Given the description of an element on the screen output the (x, y) to click on. 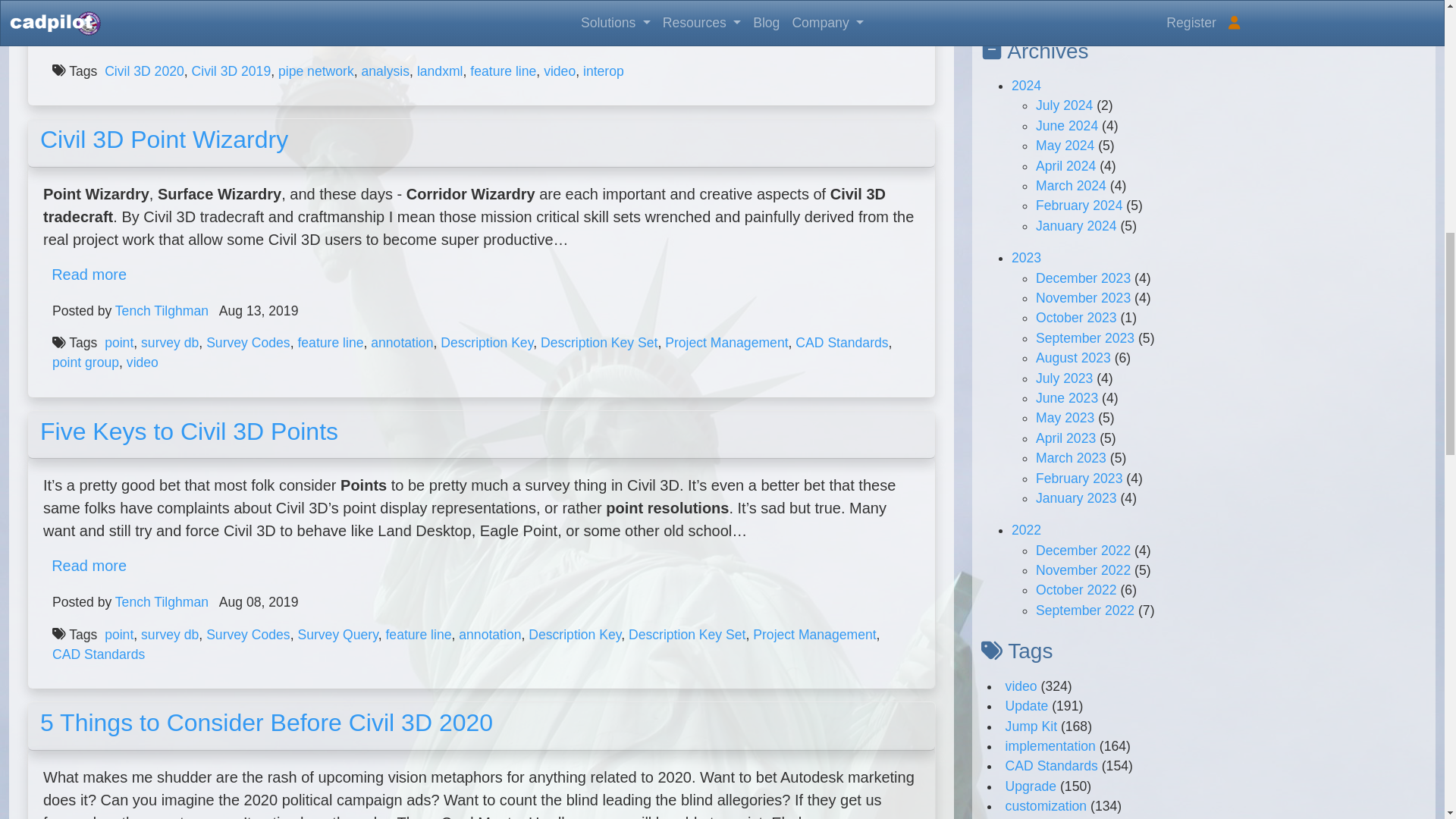
November 2023 (1083, 297)
June 2024 (1066, 125)
August 2023 (1072, 357)
July 2023 (1064, 378)
April 2024 (1065, 165)
February 2024 (1078, 205)
May 2024 (1064, 145)
October 2023 (1075, 317)
December 2023 (1083, 278)
January 2024 (1075, 225)
July 2024 (1064, 105)
September 2023 (1084, 337)
March 2024 (1070, 185)
